Given the description of an element on the screen output the (x, y) to click on. 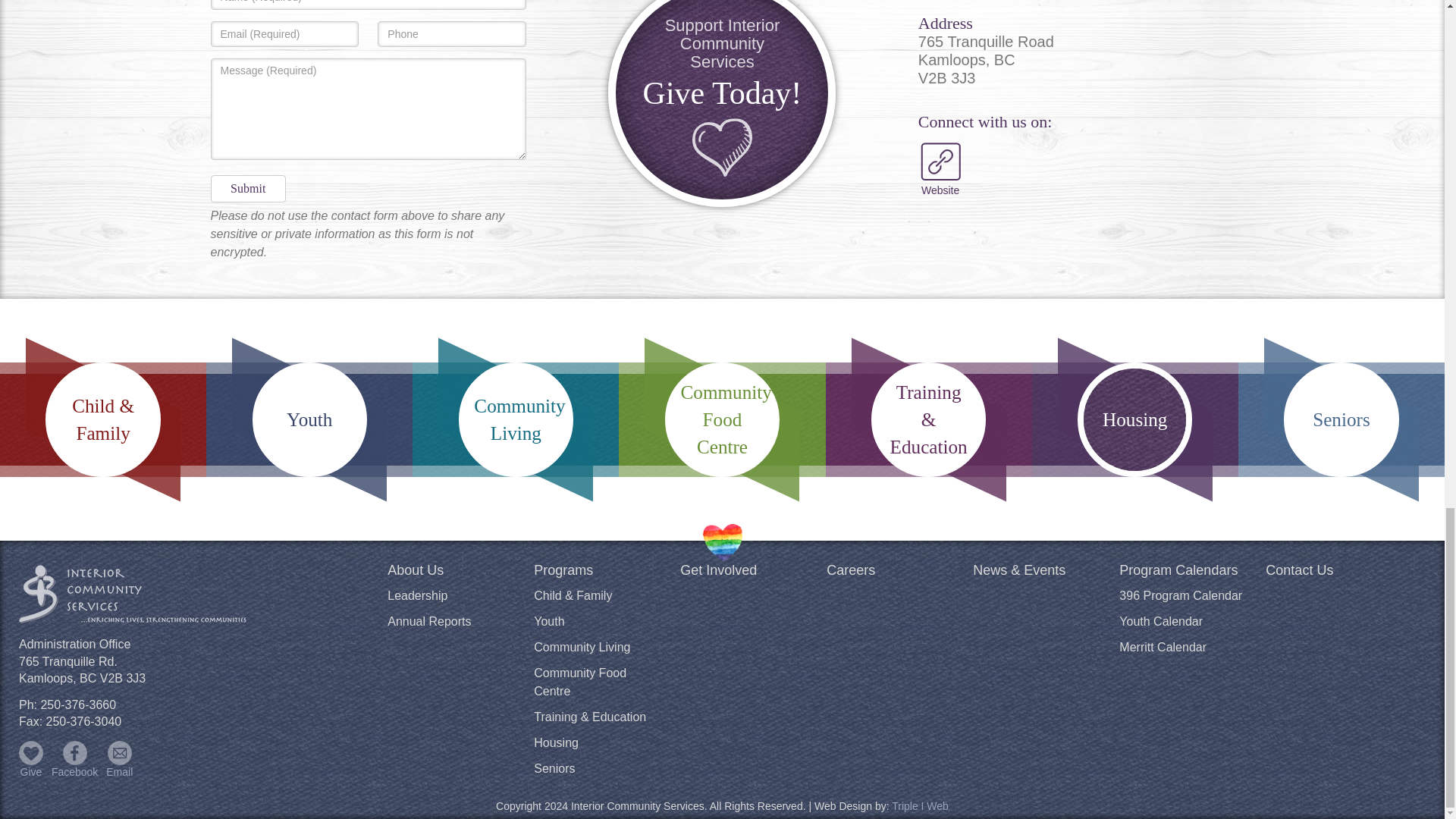
Submit (248, 188)
Facebook (74, 752)
Email (119, 752)
Give (30, 752)
